Given the description of an element on the screen output the (x, y) to click on. 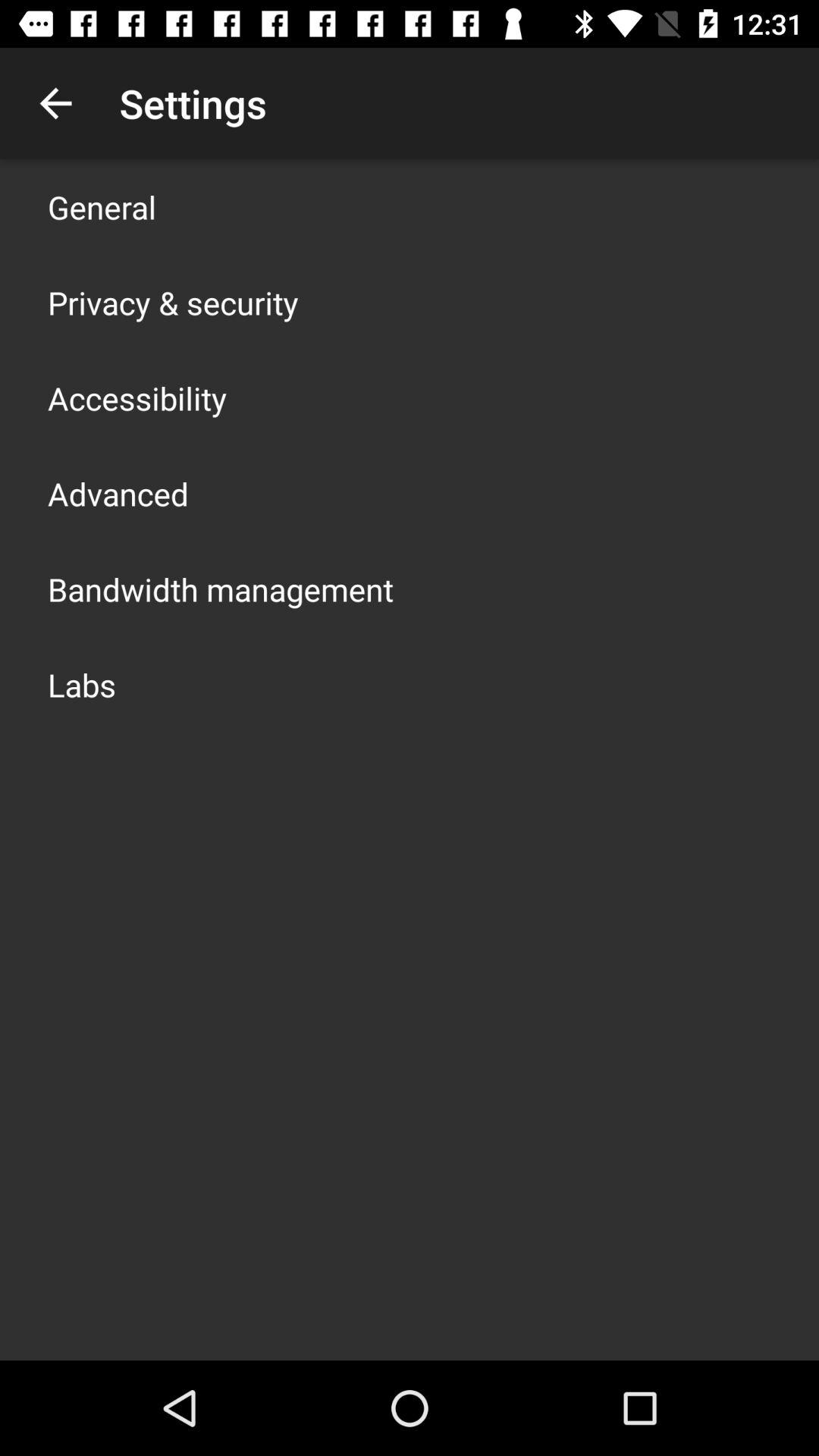
swipe until the general item (101, 206)
